Given the description of an element on the screen output the (x, y) to click on. 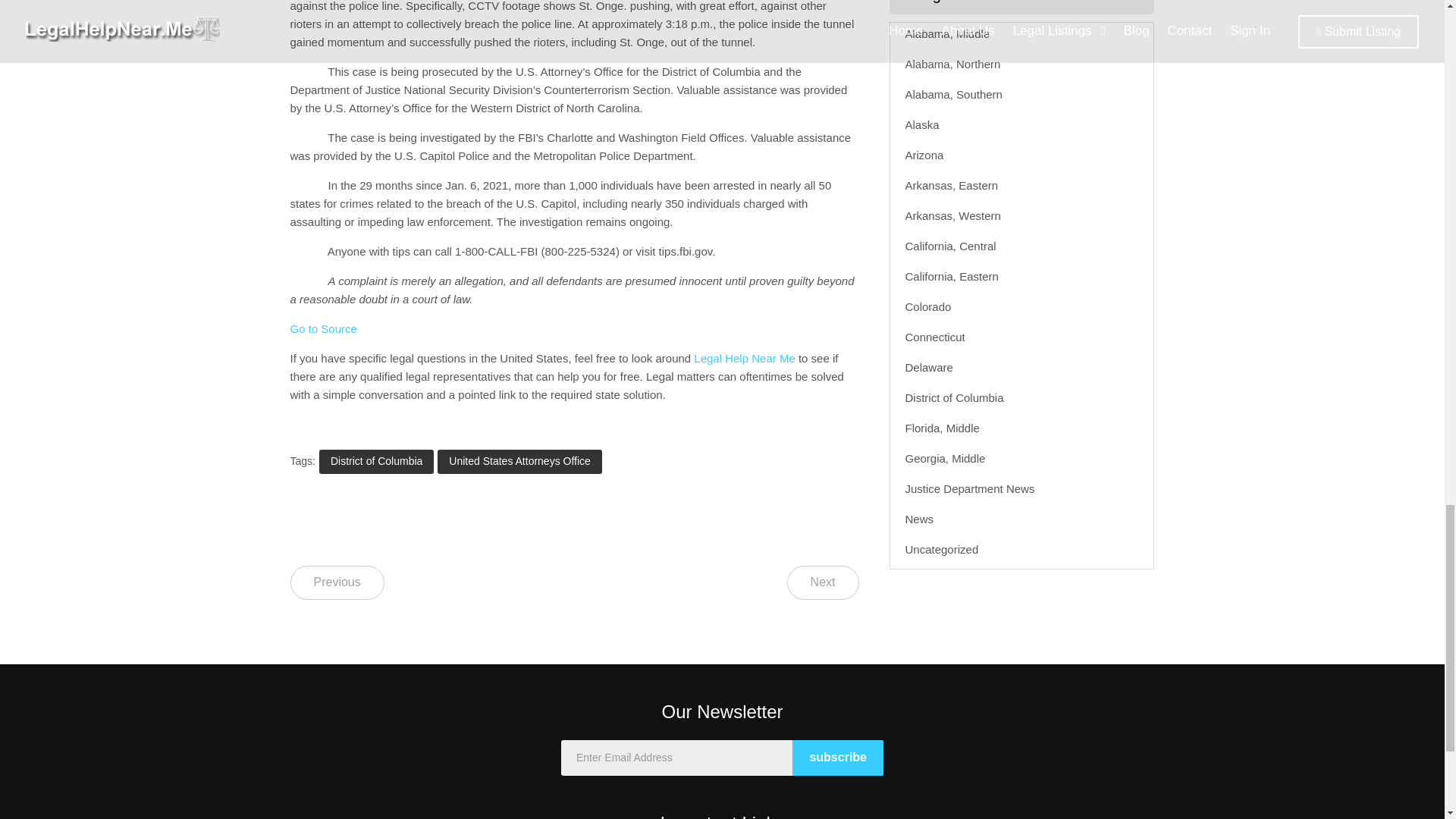
Previous (336, 582)
United States Attorneys Office (520, 461)
District of Columbia (375, 461)
Go to Source (322, 328)
Next (823, 582)
subscribe (837, 757)
Legal Help Near Me (744, 358)
